Given the description of an element on the screen output the (x, y) to click on. 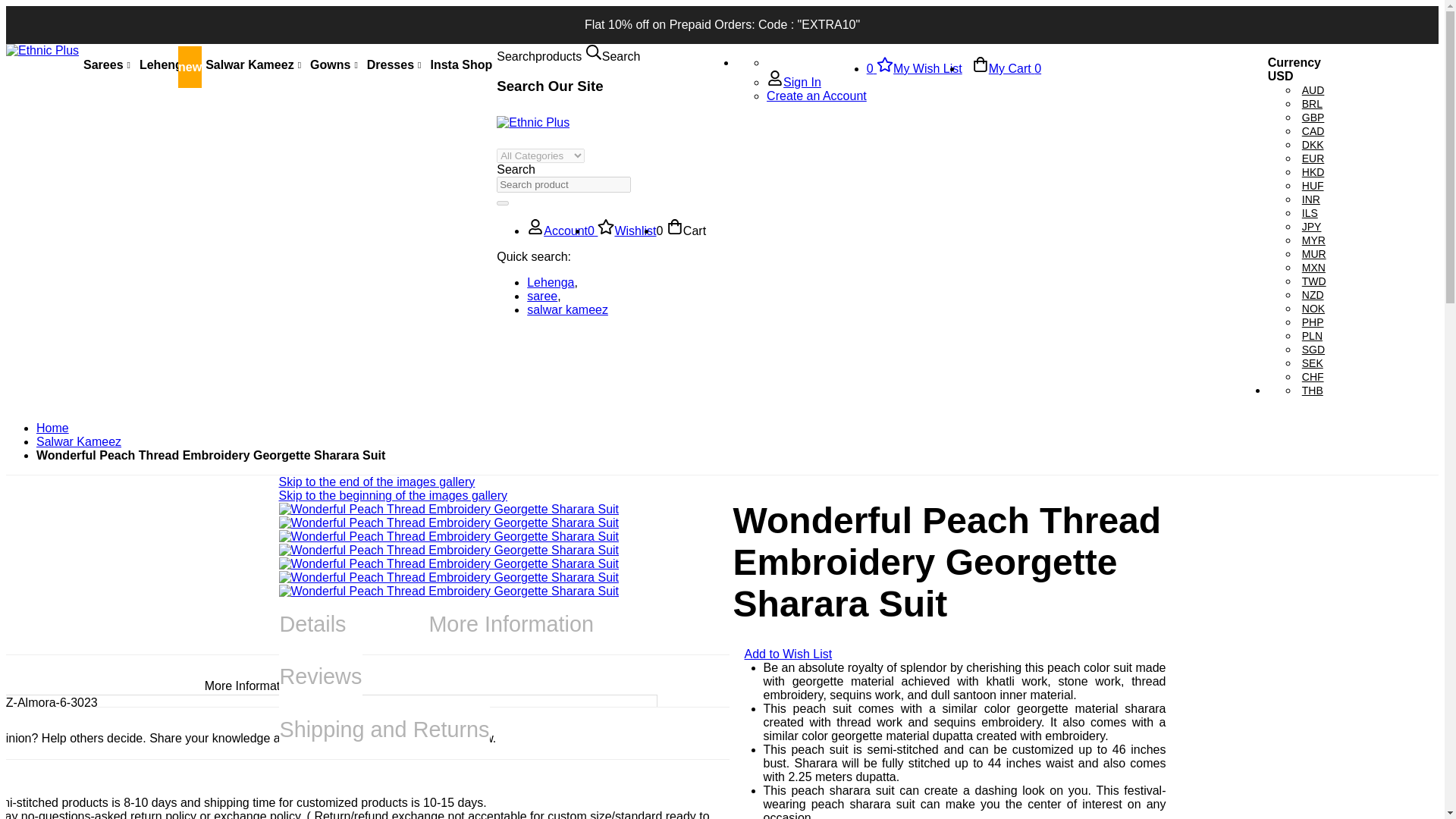
Ethnic Plus (532, 122)
Go to Home Page (52, 427)
Wonderful Peach Thread Embroidery Georgette Sharara Suit (449, 522)
Wonderful Peach Thread Embroidery Georgette Sharara Suit (449, 549)
Sarees (106, 64)
Wonderful Peach Thread Embroidery Georgette Sharara Suit (449, 590)
Ethnic Plus (532, 122)
Wonderful Peach Thread Embroidery Georgette Sharara Suit (449, 563)
Wonderful Peach Thread Embroidery Georgette Sharara Suit (449, 576)
Wonderful Peach Thread Embroidery Georgette Sharara Suit (449, 508)
